Given the description of an element on the screen output the (x, y) to click on. 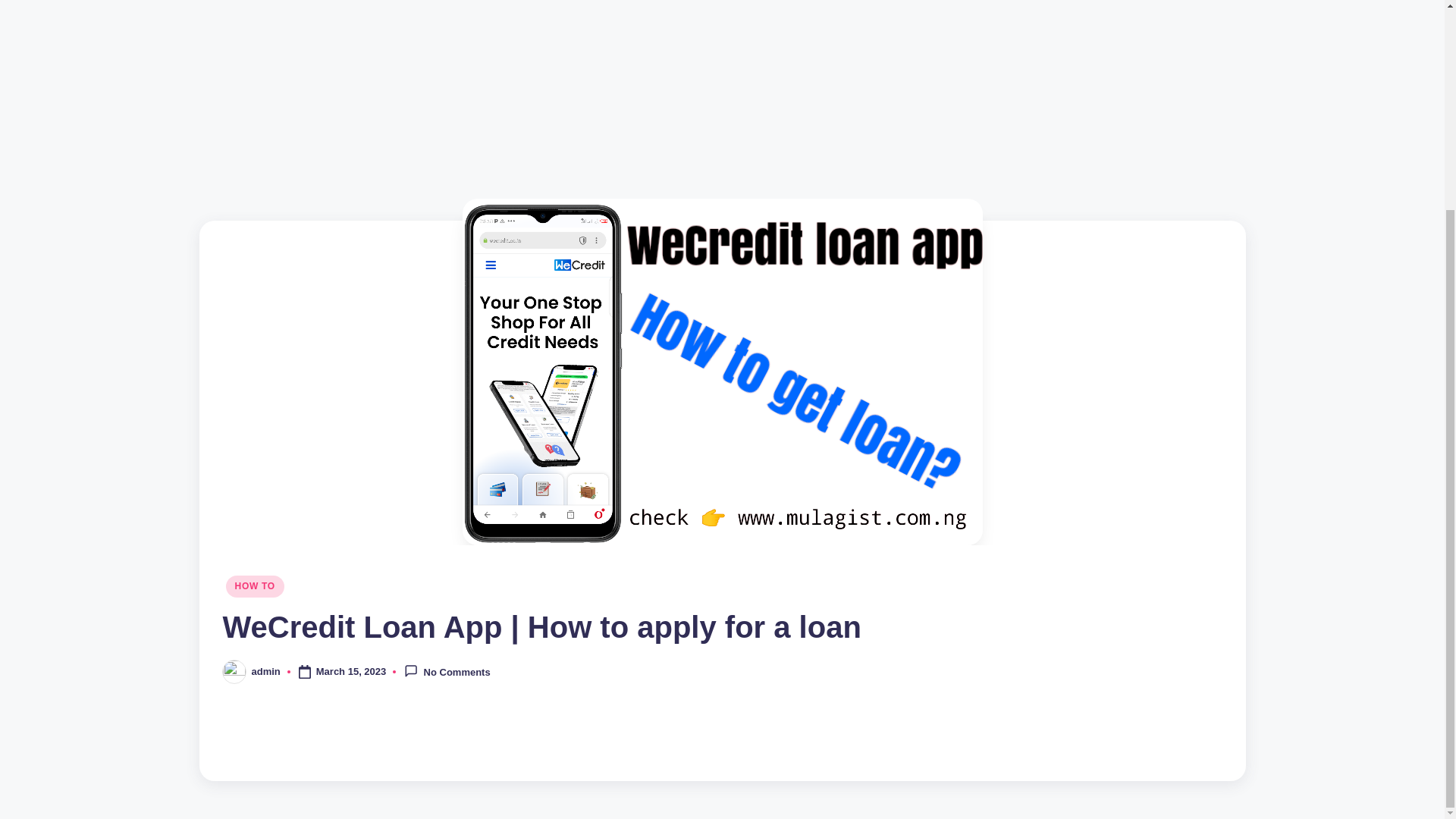
View all posts by admin (266, 671)
admin (266, 671)
HOW TO (254, 586)
No Comments (446, 671)
